Given the description of an element on the screen output the (x, y) to click on. 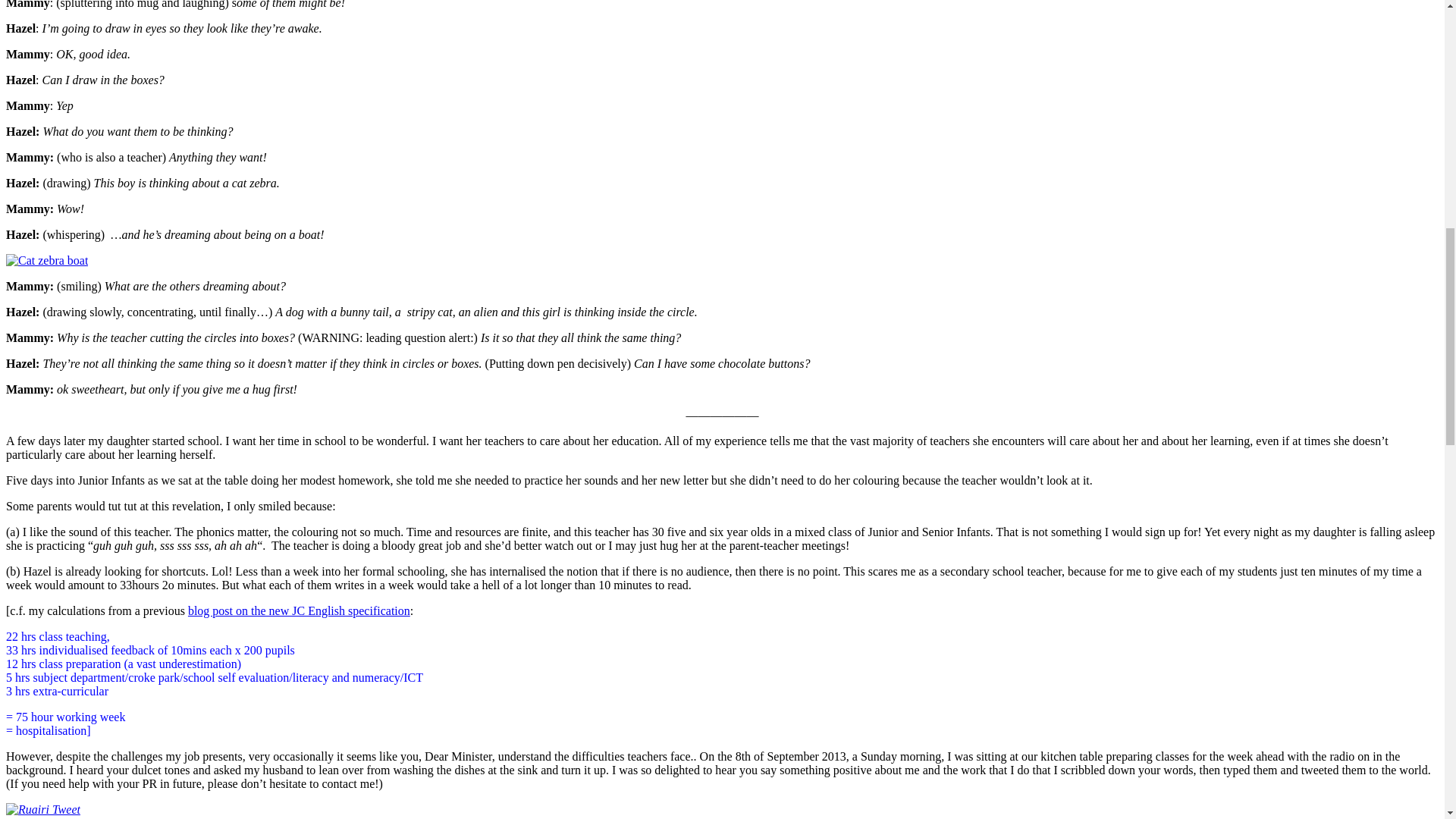
blog post on the new JC English specification (298, 610)
Draft Spec for Junior Cycle English (298, 610)
